Given the description of an element on the screen output the (x, y) to click on. 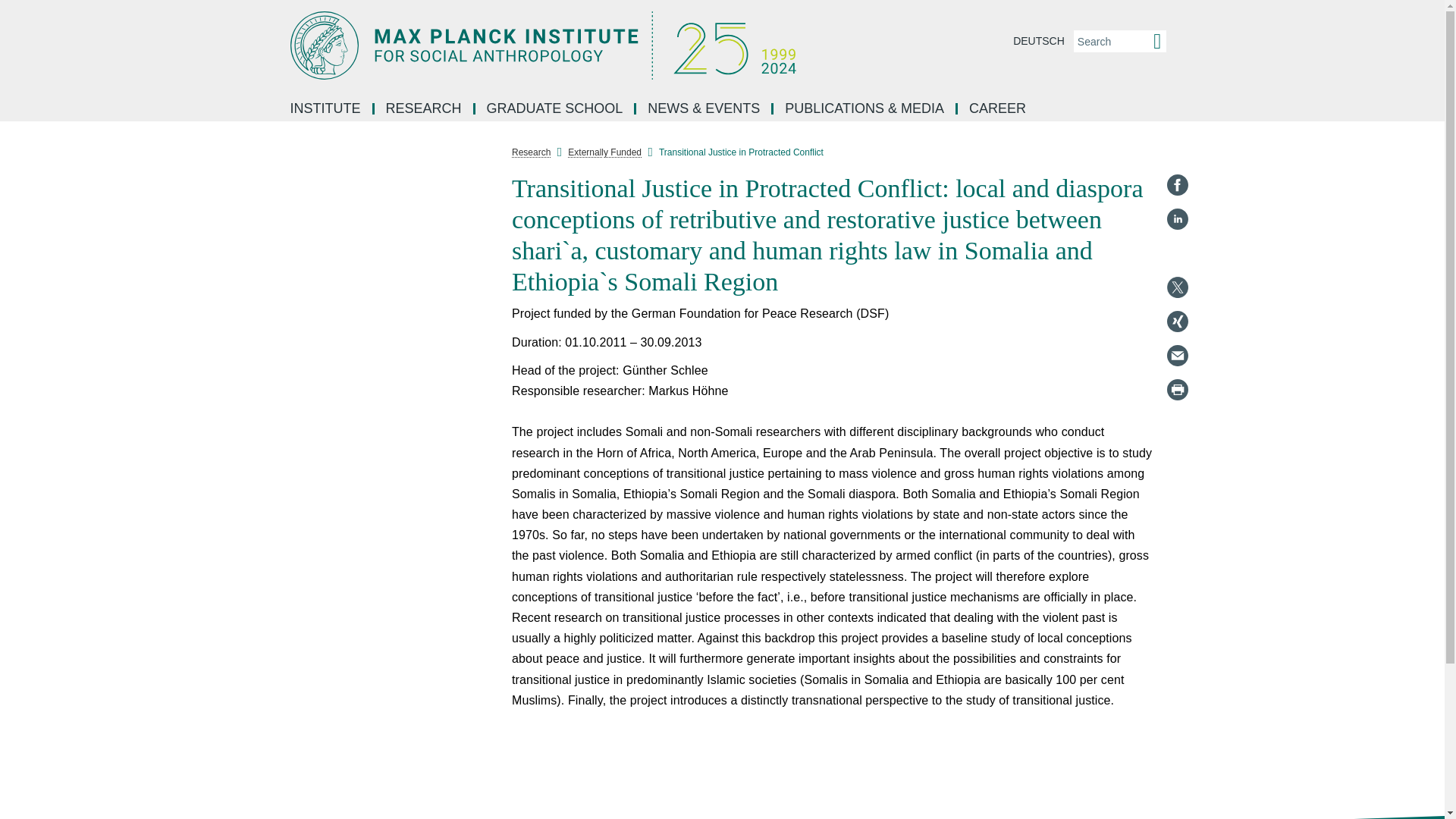
RESEARCH (425, 108)
Facebook (1177, 184)
Xing (1177, 321)
Reddit (1177, 252)
Twitter (1177, 287)
E-Mail (1177, 354)
Print (1177, 389)
LinkedIn (1177, 219)
INSTITUTE (326, 108)
DEUTSCH (1038, 41)
